Given the description of an element on the screen output the (x, y) to click on. 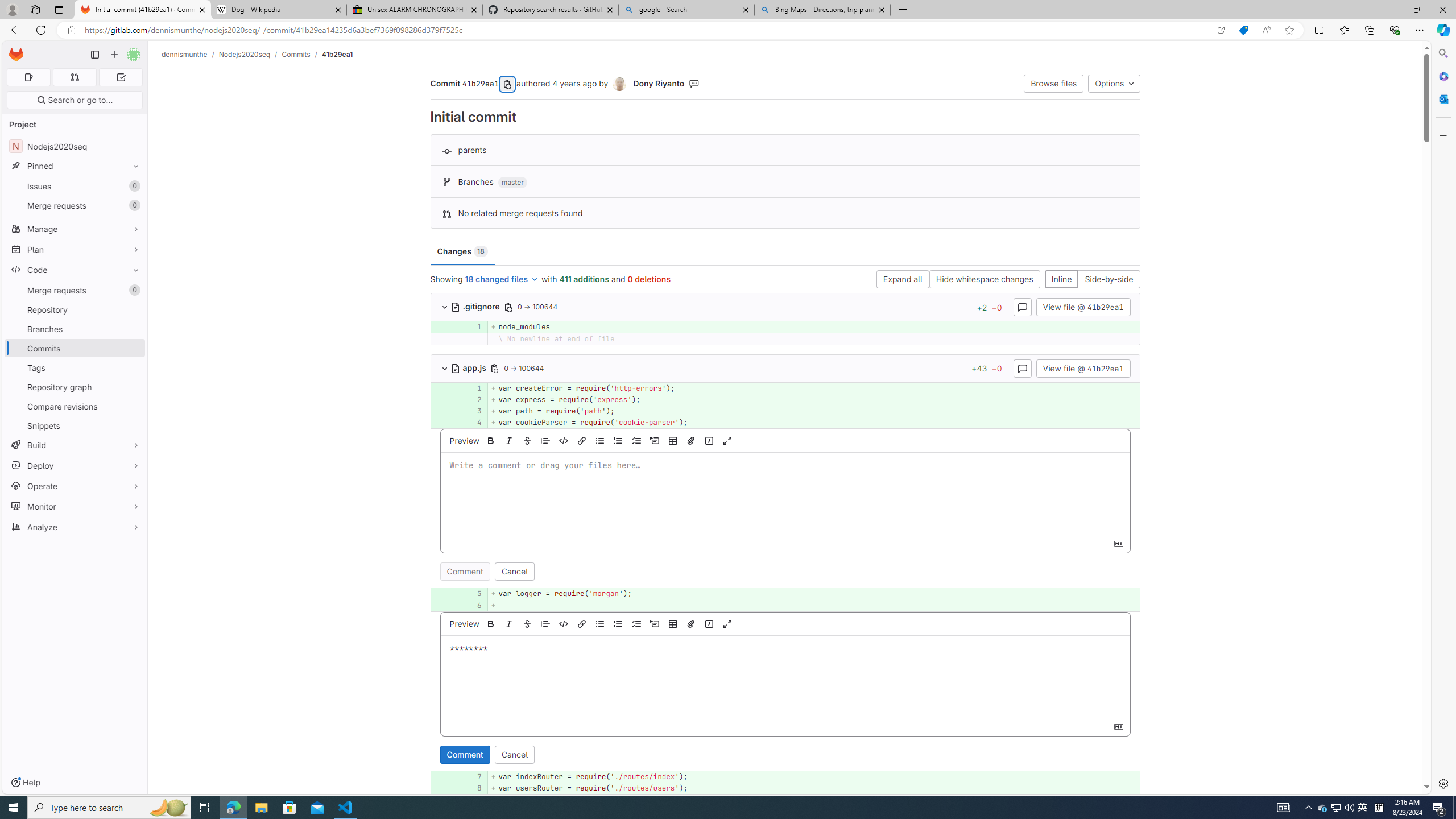
Primary navigation sidebar (94, 54)
+ var createError = require('http-errors');  (813, 387)
Code (74, 269)
AutomationID: 4a68969ef8e858229267b842dedf42ab5dde4d50_0_2 (785, 399)
Merge requests 0 (74, 76)
Class: s12 (429, 787)
AutomationID: 4a68969ef8e858229267b842dedf42ab5dde4d50_0_3 (785, 410)
To-Do list 0 (120, 76)
Class: s16 (455, 368)
Repository graph (74, 386)
Preview (463, 623)
